Given the description of an element on the screen output the (x, y) to click on. 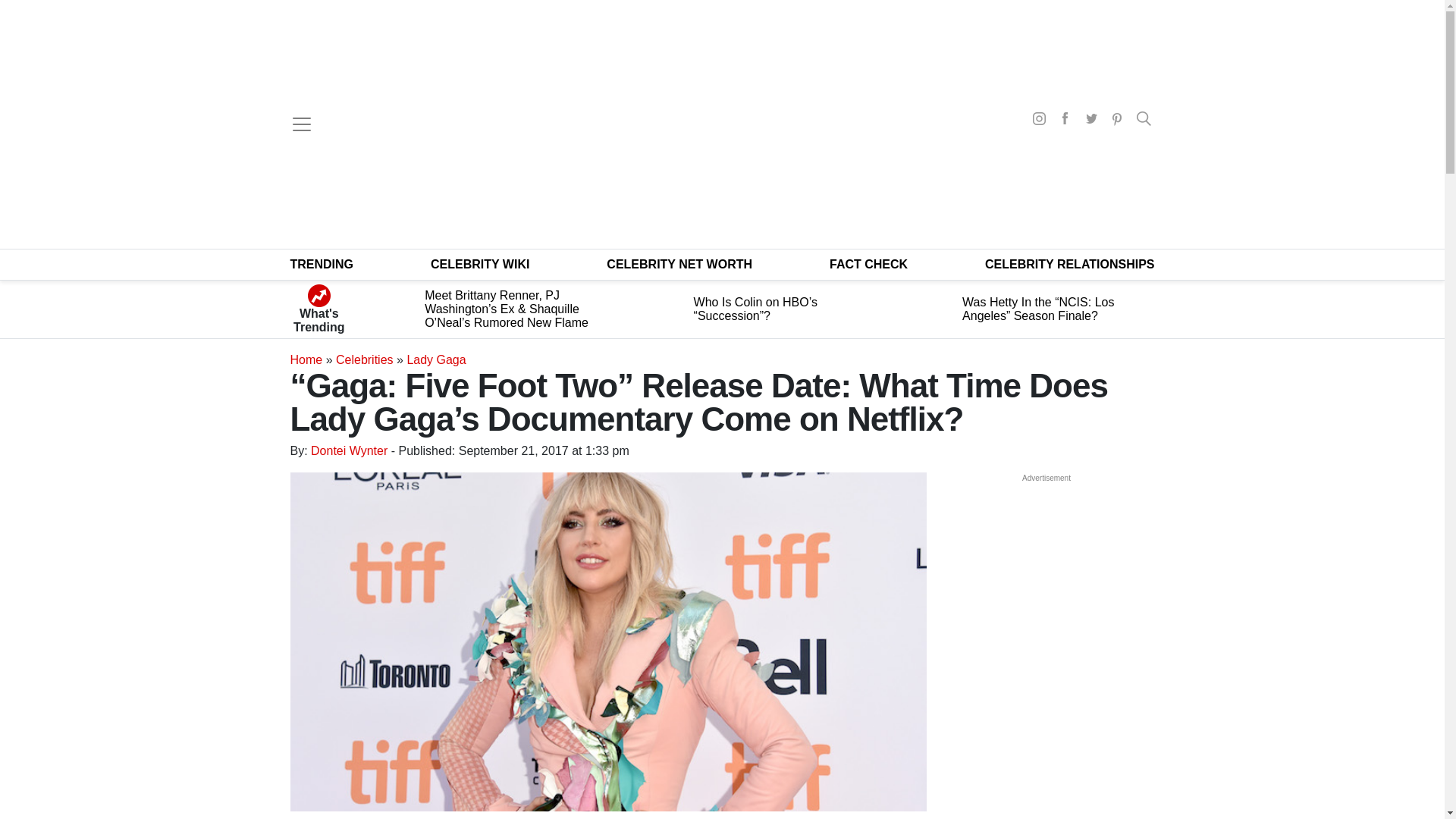
Home (305, 359)
Posts by Dontei Wynter (349, 450)
FACT CHECK (868, 264)
Menu (301, 124)
CELEBRITY RELATIONSHIPS (1069, 264)
Celebrities (364, 359)
Lady Gaga (435, 359)
Dontei Wynter (349, 450)
TRENDING (321, 264)
CELEBRITY NET WORTH (679, 264)
CELEBRITY WIKI (479, 264)
